Given the description of an element on the screen output the (x, y) to click on. 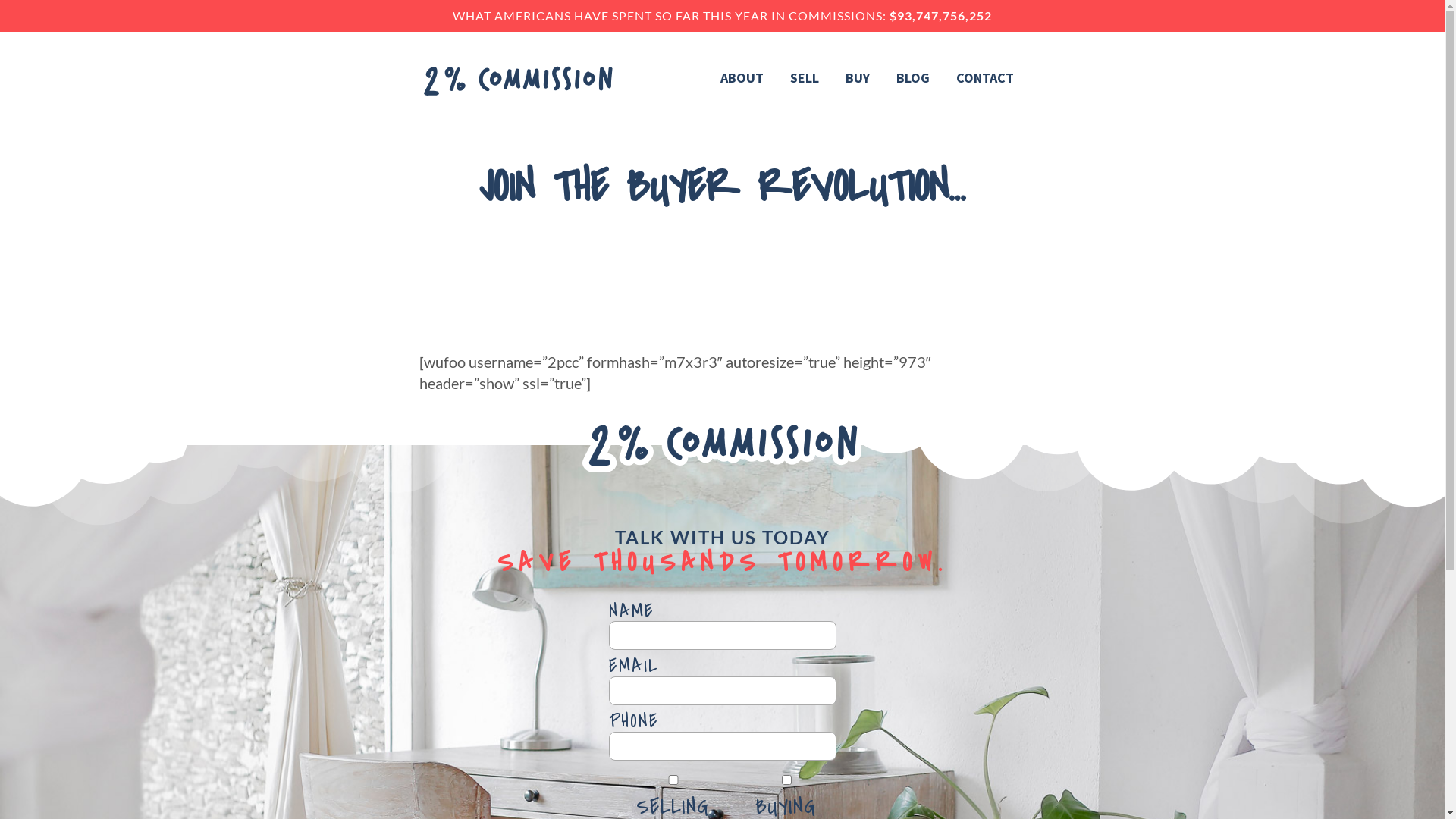
BUY Element type: text (856, 77)
BLOG Element type: text (912, 77)
SELL Element type: text (804, 77)
ABOUT Element type: text (741, 77)
CONTACT Element type: text (984, 77)
Skip to primary navigation Element type: text (0, 0)
